Given the description of an element on the screen output the (x, y) to click on. 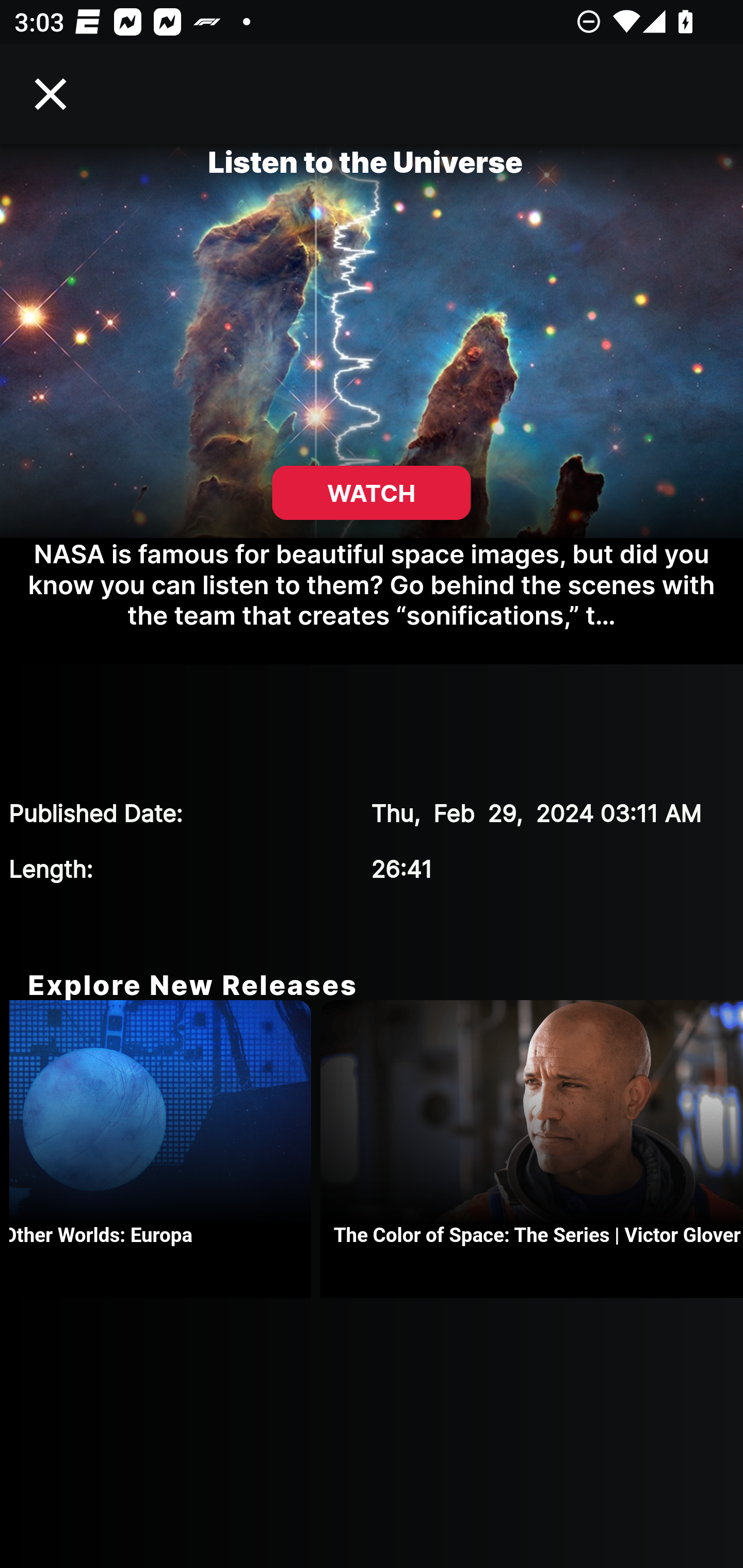
WATCH (371, 492)
Other Worlds: Europa (164, 1149)
The Color of Space: The Series | Victor Glover (531, 1149)
